Given the description of an element on the screen output the (x, y) to click on. 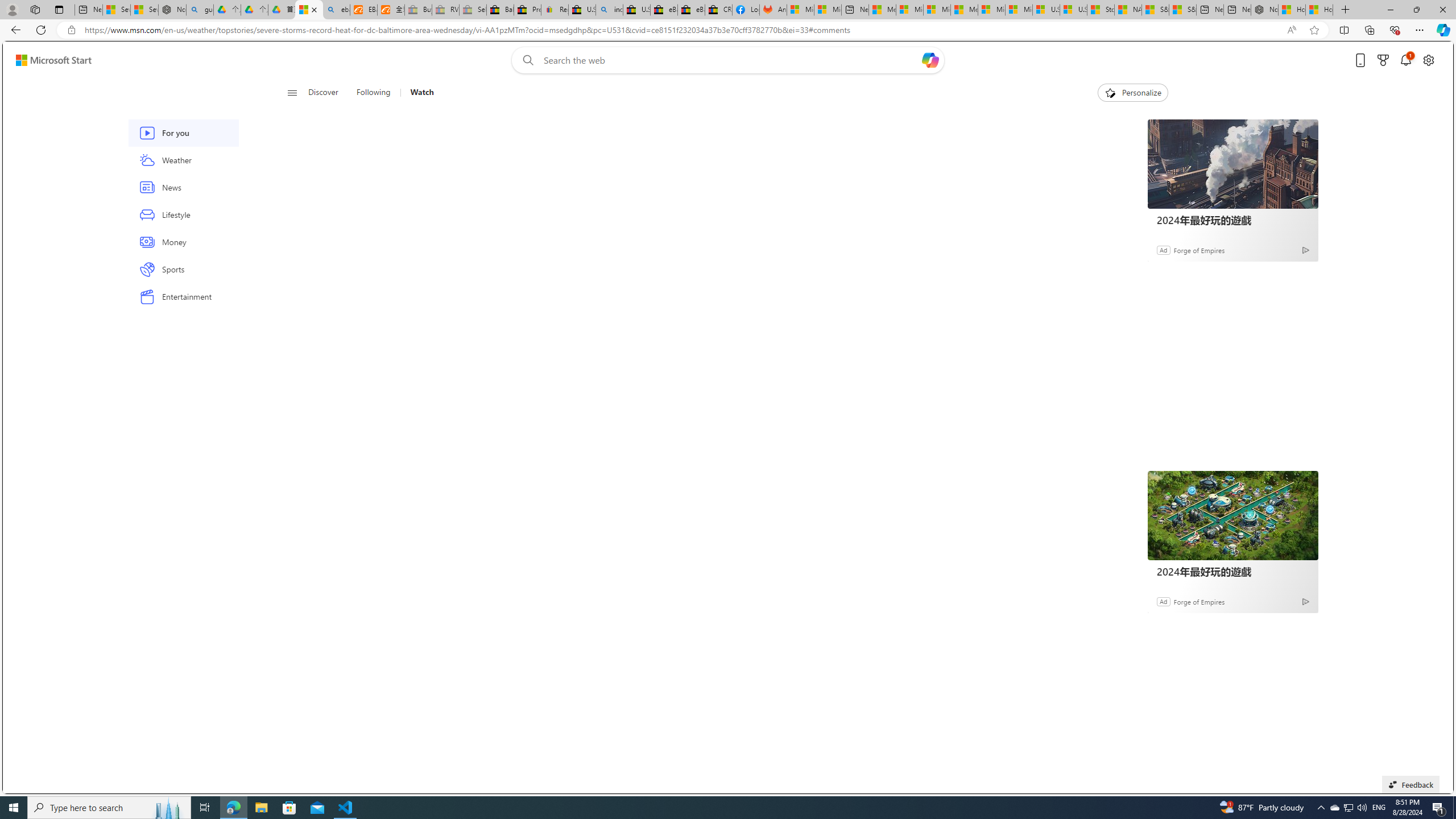
Buy Auto Parts & Accessories | eBay - Sleeping (418, 9)
To get missing image descriptions, open the context menu. (1109, 92)
Register: Create a personal eBay account (554, 9)
Skip to content (49, 59)
